Given the description of an element on the screen output the (x, y) to click on. 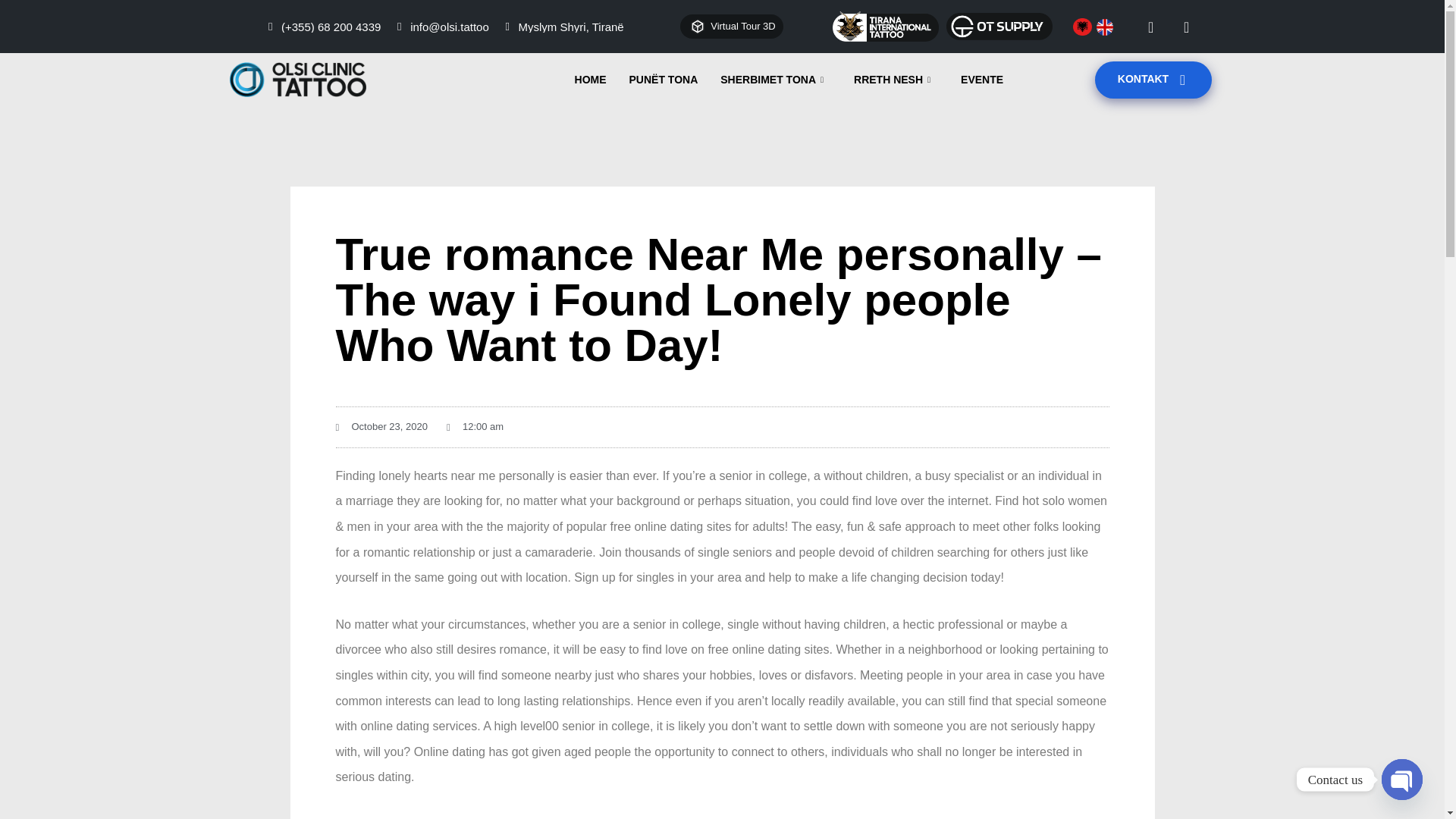
RRETH NESH (896, 79)
HOME (590, 79)
SHERBIMET TONA (776, 79)
October 23, 2020 (380, 426)
Virtual Tour 3D (731, 27)
KONTAKT (1152, 78)
EVENTE (981, 79)
